Given the description of an element on the screen output the (x, y) to click on. 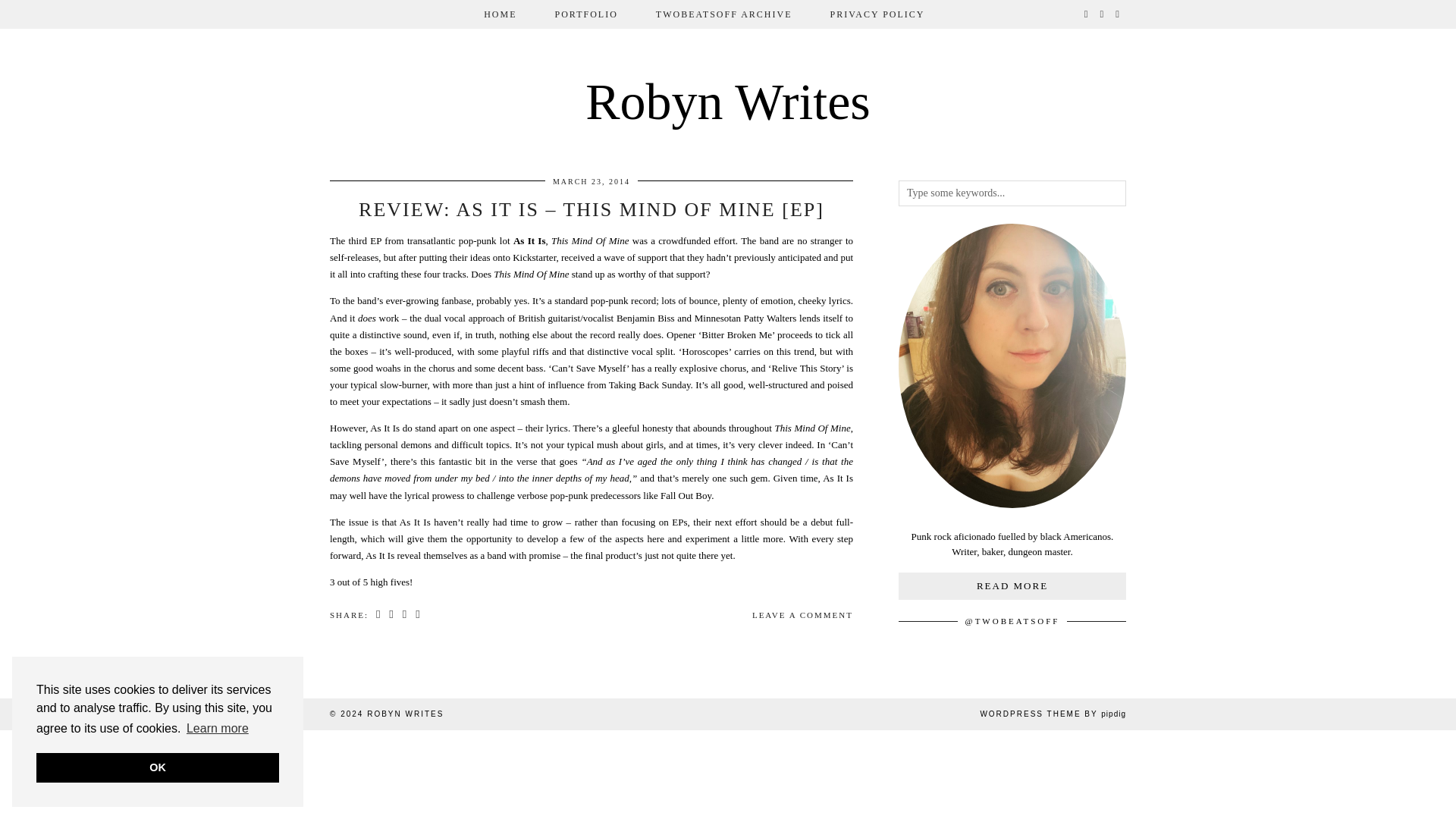
LEAVE A COMMENT (802, 614)
HOME (499, 14)
Share on Twitter (391, 615)
Share on Pinterest (405, 615)
Robyn Writes (727, 101)
PORTFOLIO (586, 14)
TWOBEATSOFF ARCHIVE (723, 14)
PRIVACY POLICY (876, 14)
WORDPRESS THEME BY pipdig (1052, 714)
READ MORE (1011, 585)
Share on Facebook (378, 615)
ROBYN WRITES (405, 714)
Robyn Writes (727, 101)
Share on tumblr (418, 615)
